Given the description of an element on the screen output the (x, y) to click on. 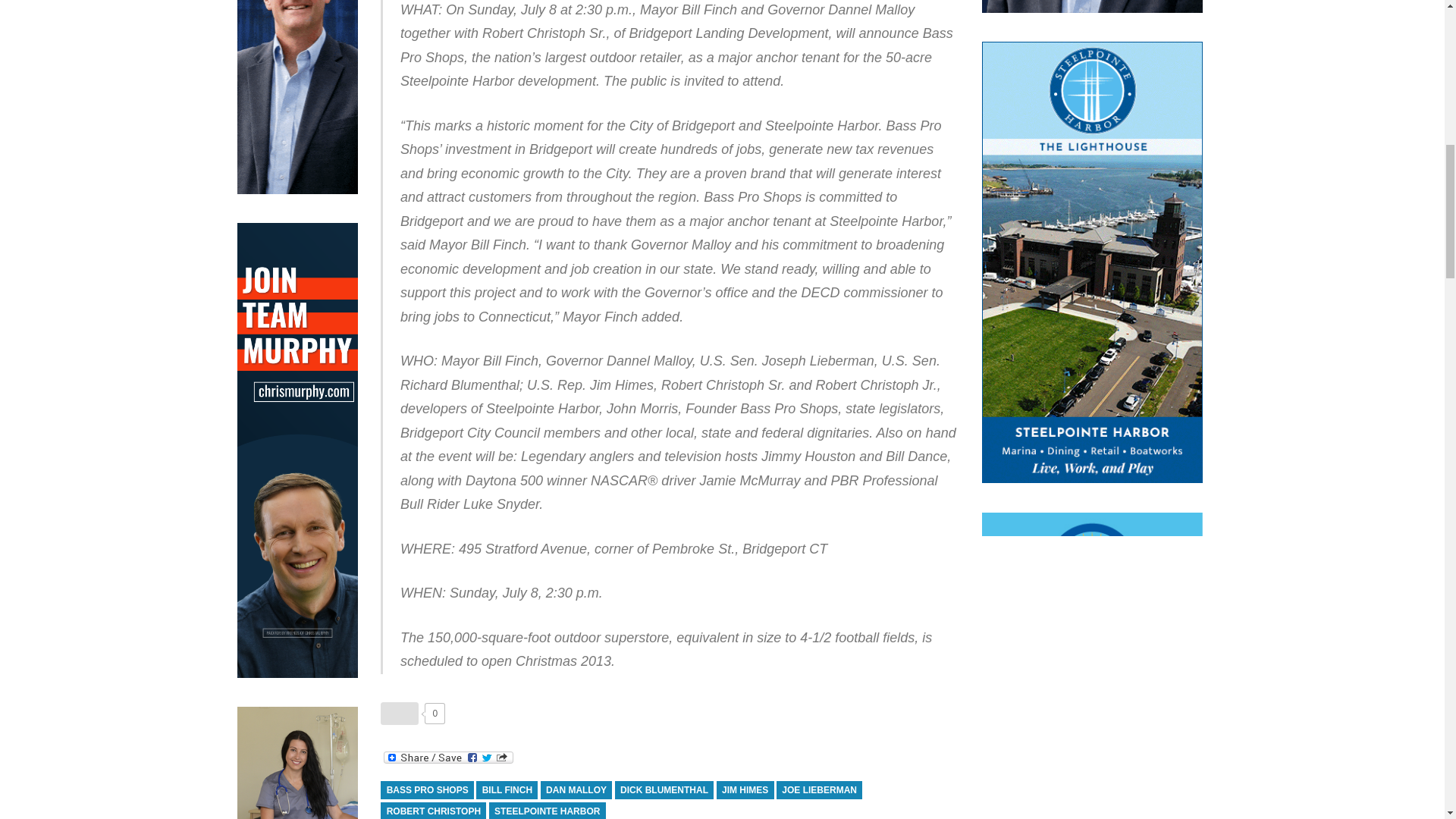
STEELPOINTE HARBOR (547, 810)
DICK BLUMENTHAL (663, 790)
ROBERT CHRISTOPH (433, 810)
DAN MALLOY (575, 790)
JOE LIEBERMAN (818, 790)
JIM HIMES (745, 790)
BASS PRO SHOPS (426, 790)
BILL FINCH (506, 790)
